Given the description of an element on the screen output the (x, y) to click on. 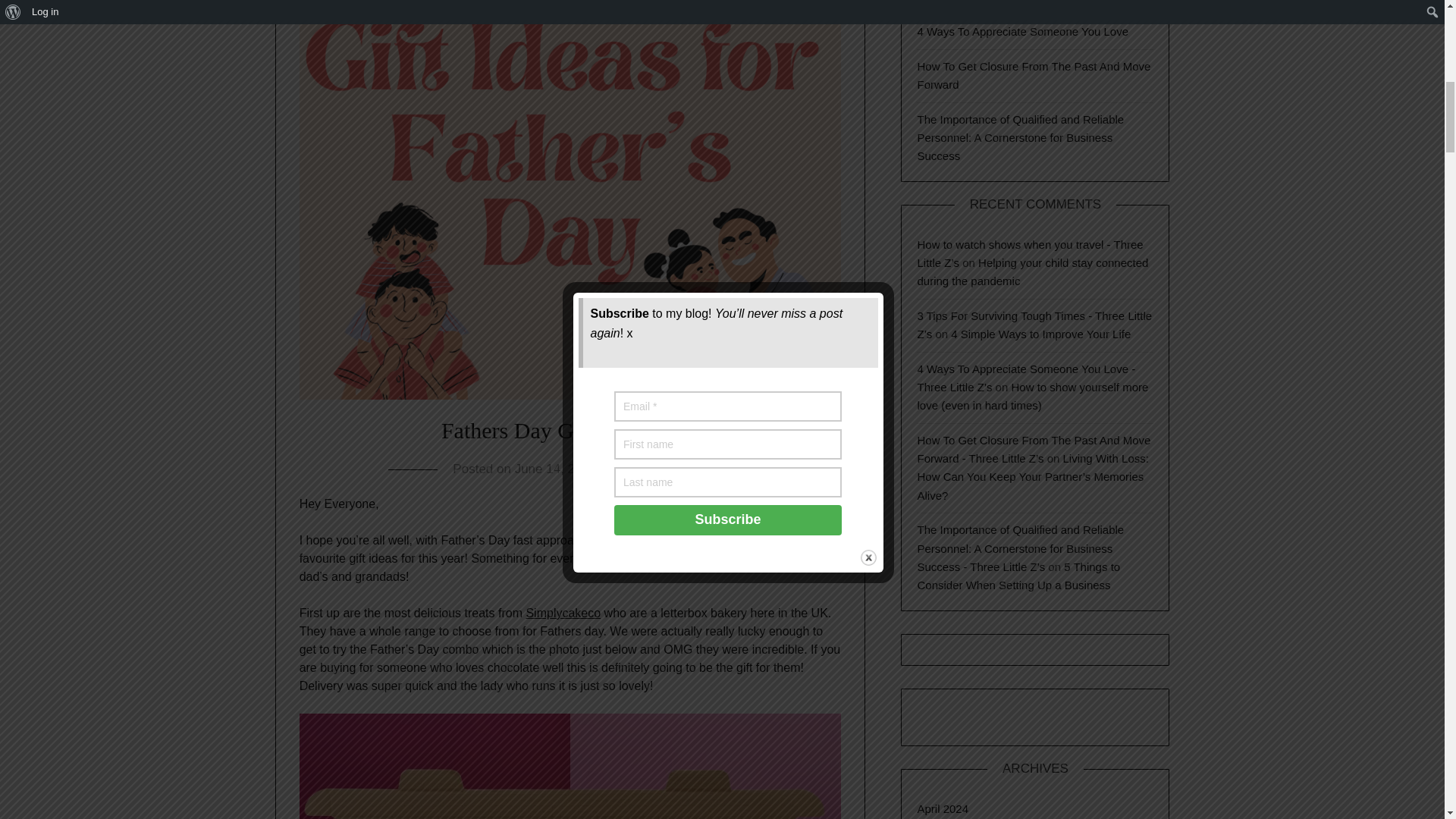
June 14, 2022 (555, 468)
Laura Clubb (652, 468)
Simplycakeco (562, 612)
